Given the description of an element on the screen output the (x, y) to click on. 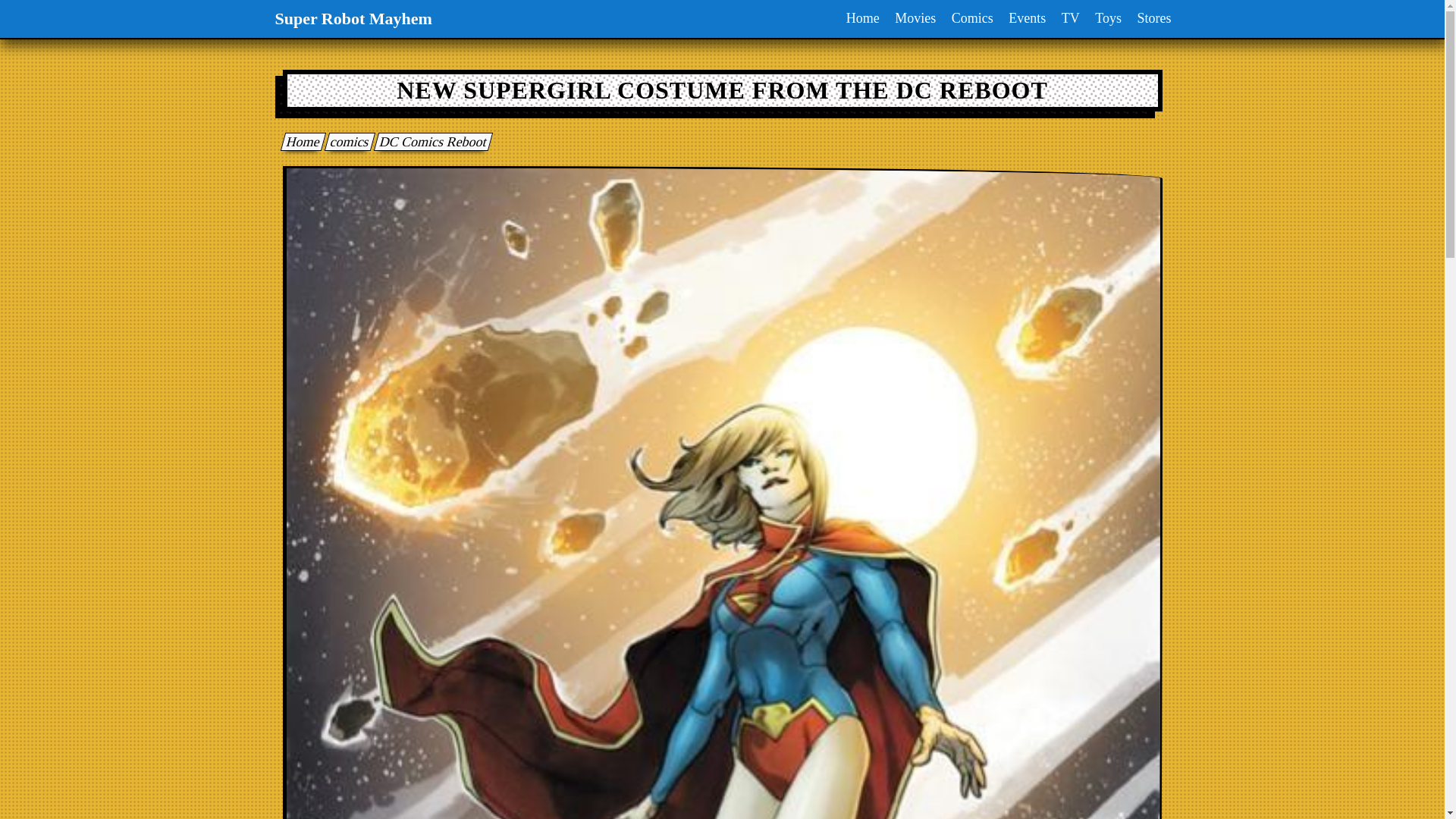
Super Robot Mayhem (352, 18)
TV (1070, 18)
comics (346, 141)
Home (299, 141)
comics (346, 141)
Events (1027, 18)
Home (862, 18)
Toys (1107, 18)
Stores (1154, 18)
Super Robot Mayhem (352, 18)
Super Robot Mayhem (299, 141)
DC Comics Reboot (429, 141)
Comics (971, 18)
Movies (915, 18)
